Given the description of an element on the screen output the (x, y) to click on. 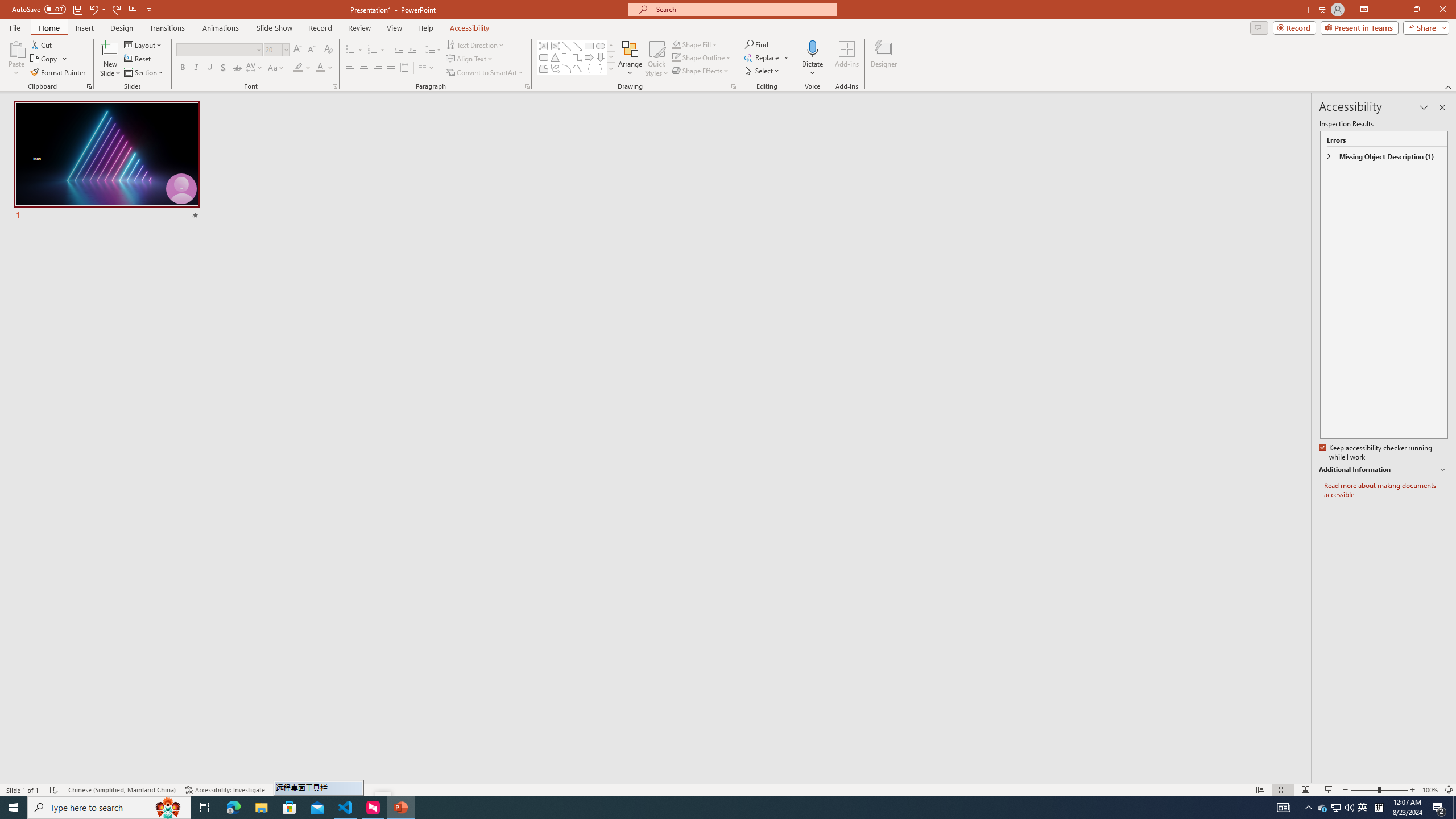
Align Left (349, 67)
Text Direction (476, 44)
Arrange (630, 58)
Align Right (377, 67)
